Given the description of an element on the screen output the (x, y) to click on. 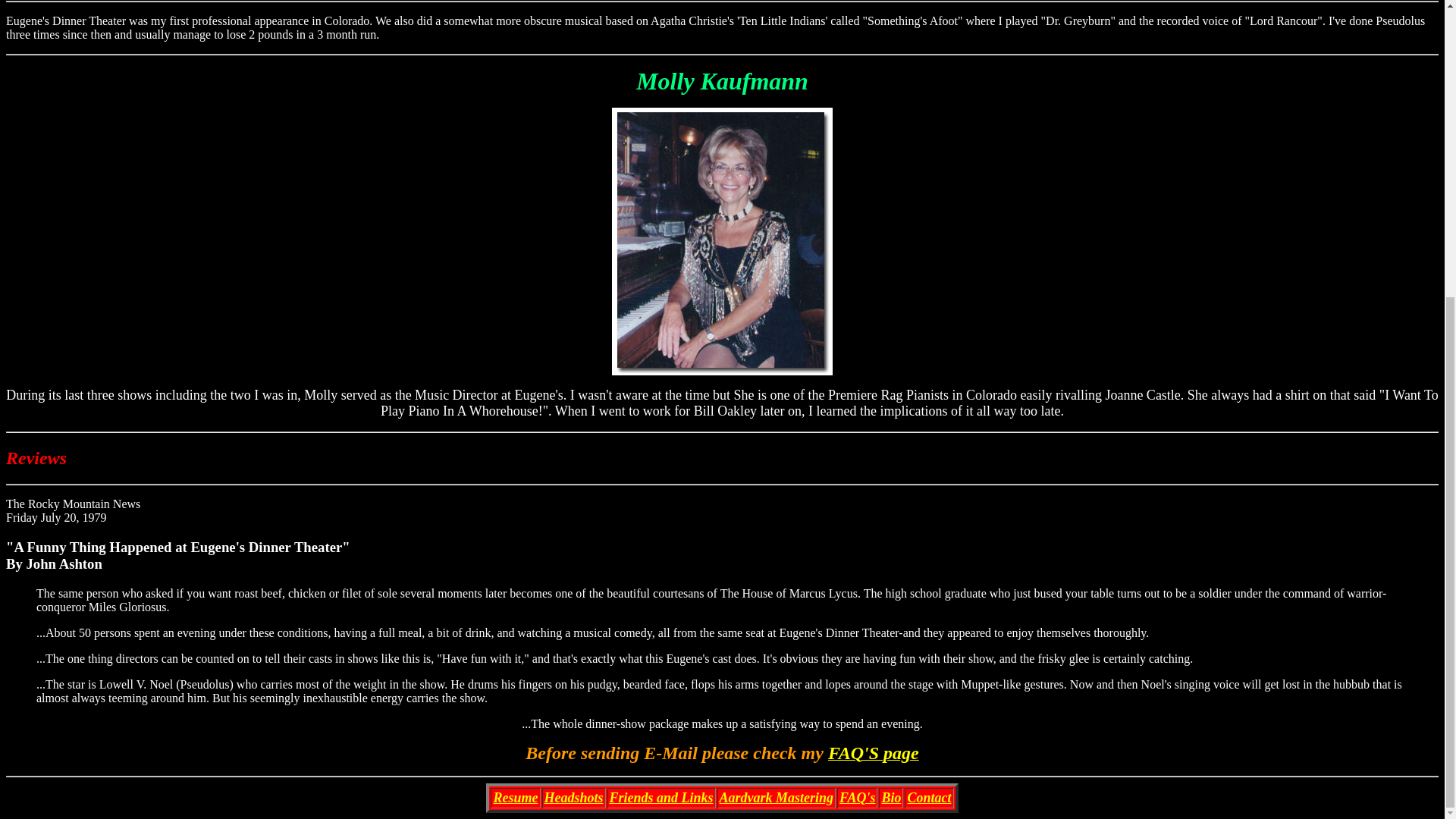
Aardvark Mastering (776, 797)
Headshots (574, 797)
FAQ'S page (873, 754)
FAQ's (857, 797)
Contact (928, 797)
Bio (890, 797)
Friends and Links (661, 797)
Resume (515, 797)
